Given the description of an element on the screen output the (x, y) to click on. 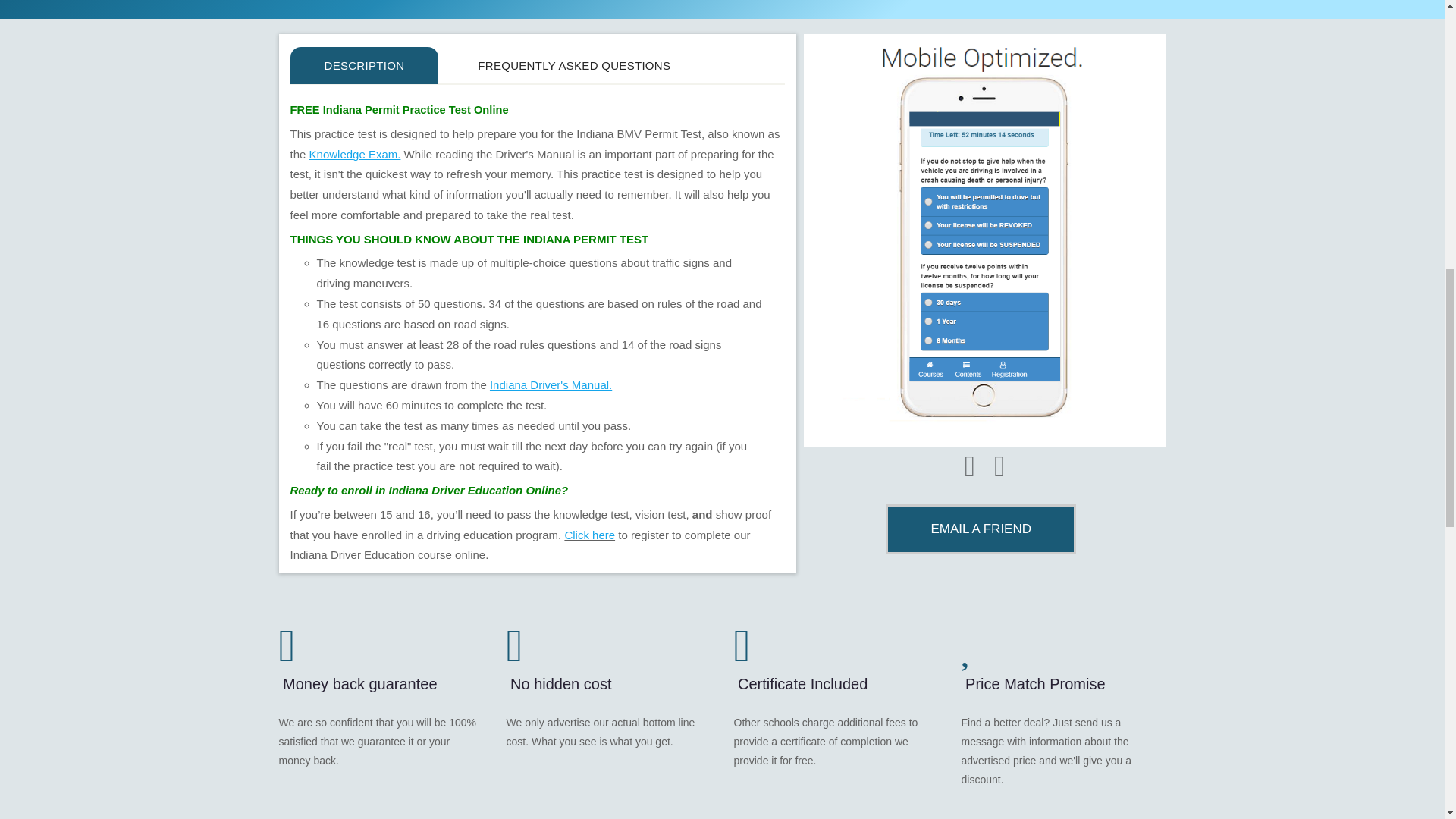
FREQUENTLY ASKED QUESTIONS (574, 65)
Click here (589, 534)
Email a friend (980, 529)
DESCRIPTION (363, 65)
Indiana Driver's Manual. (550, 384)
Knowledge Exam. (354, 154)
